Given the description of an element on the screen output the (x, y) to click on. 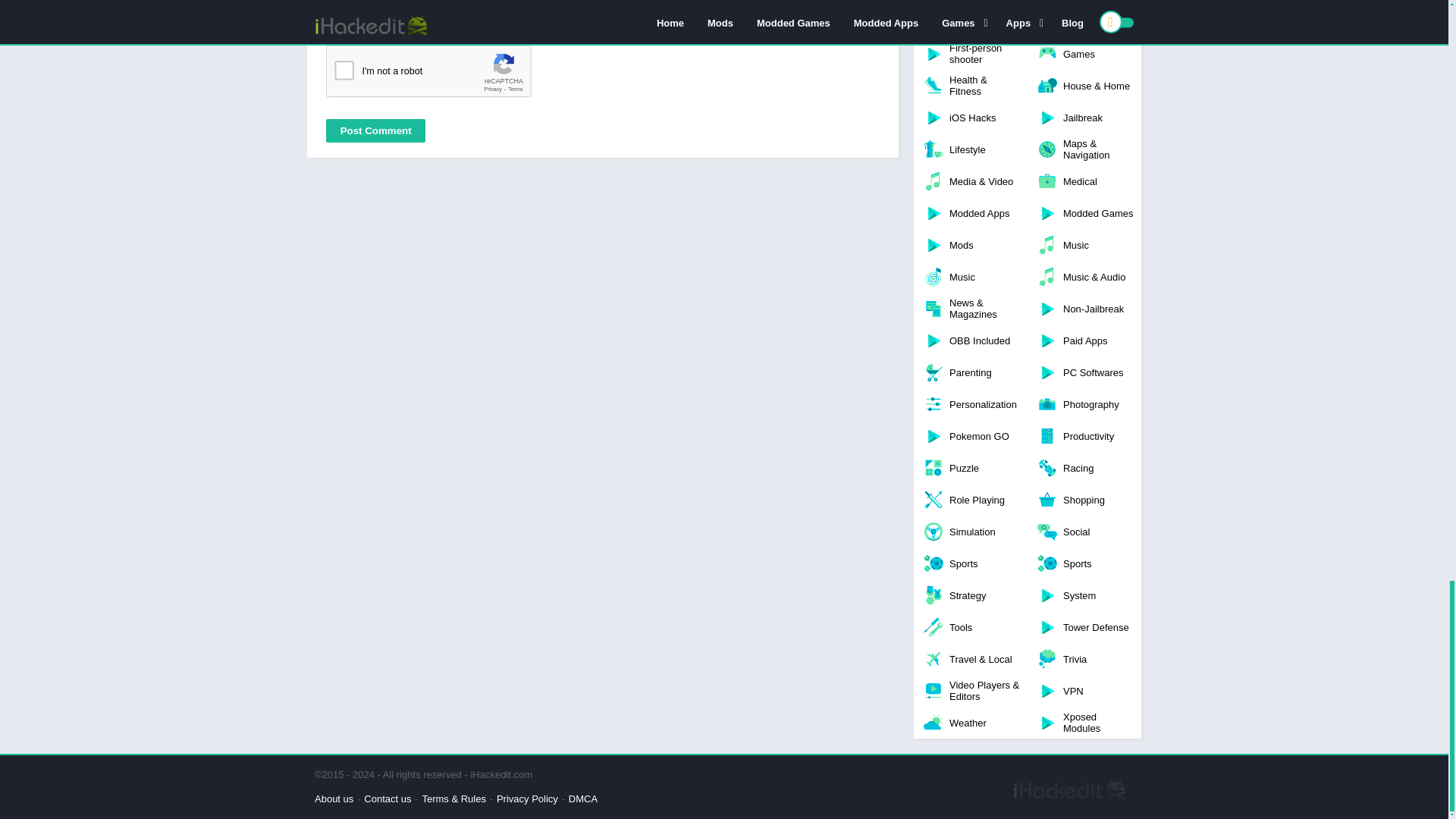
Post Comment (375, 130)
yes (334, 16)
reCAPTCHA (441, 74)
